Given the description of an element on the screen output the (x, y) to click on. 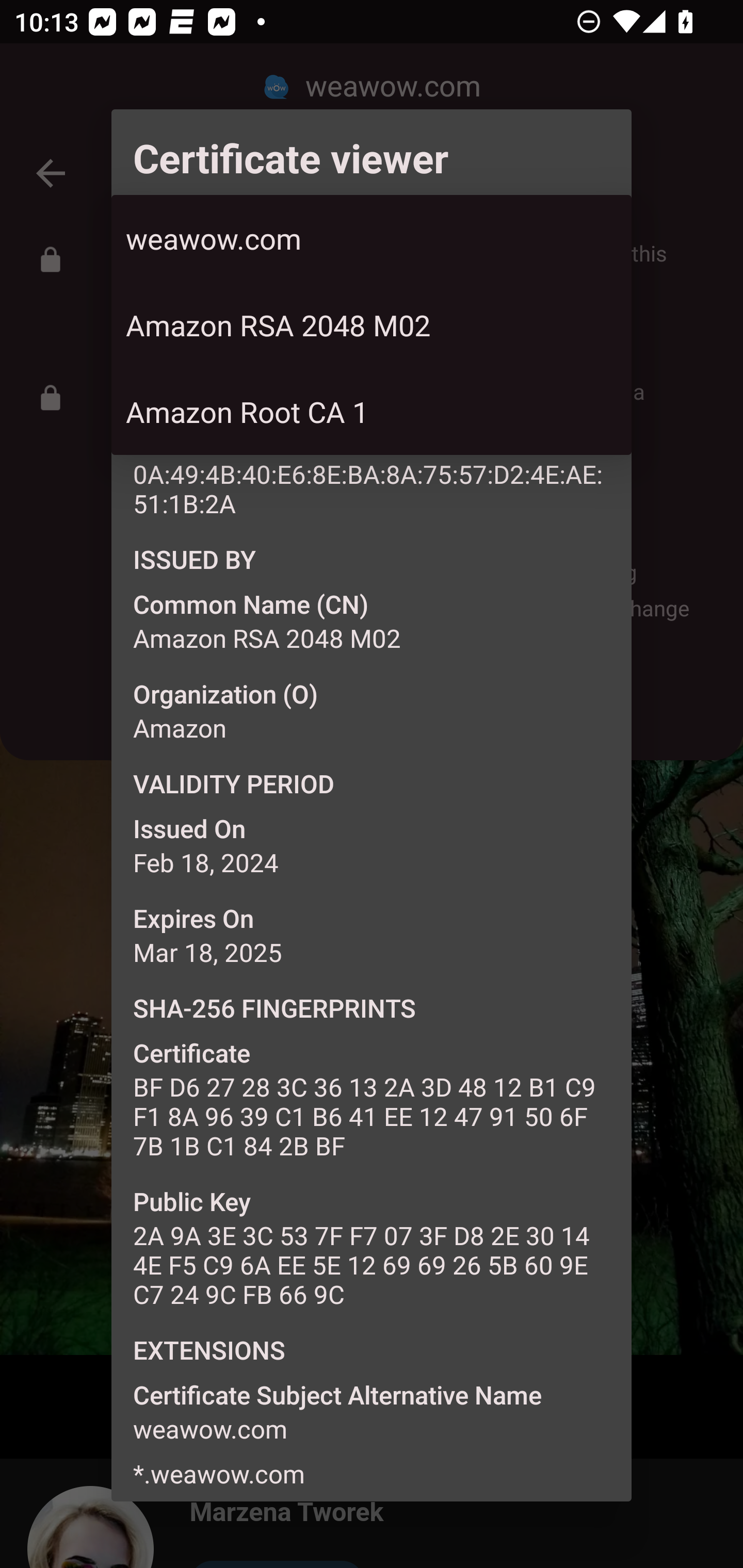
weawow.com (371, 238)
Amazon RSA 2048 M02 (371, 325)
Amazon Root CA 1 (371, 411)
